Given the description of an element on the screen output the (x, y) to click on. 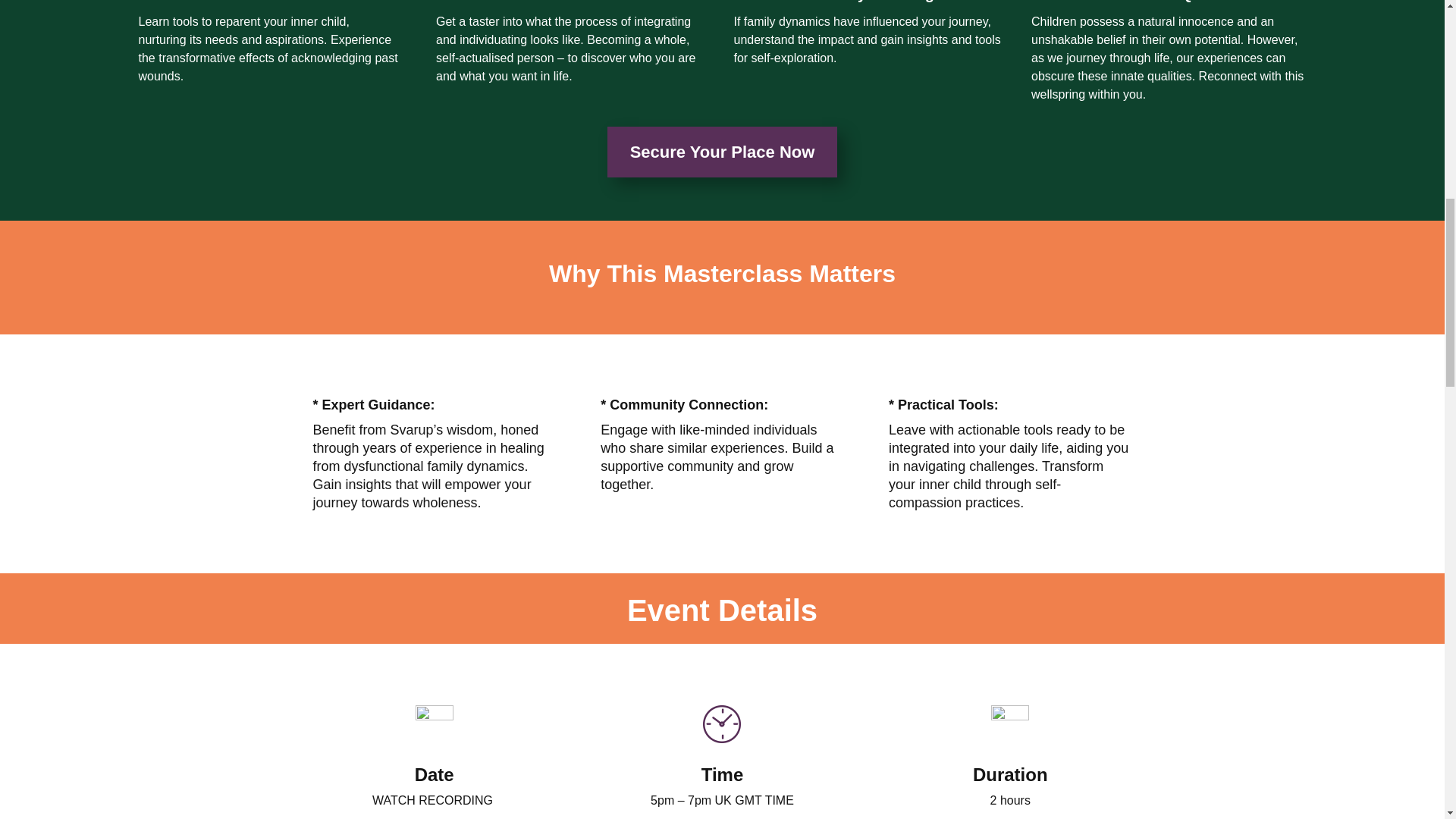
Secure Your Place Now (722, 151)
Thursday-January-11th,-2024 (433, 723)
2-hours (1010, 723)
